Given the description of an element on the screen output the (x, y) to click on. 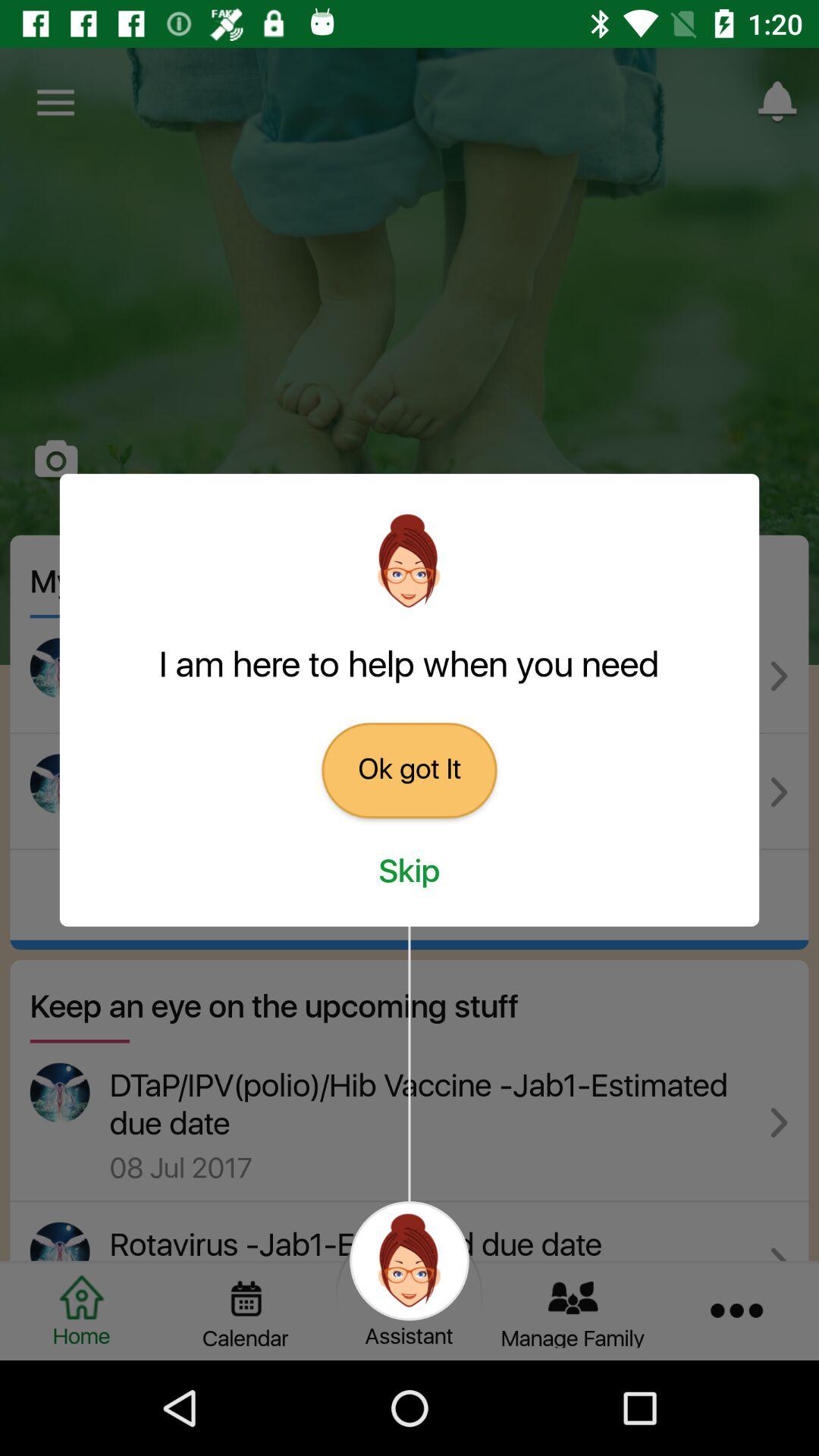
flip until the ok got it (409, 770)
